Given the description of an element on the screen output the (x, y) to click on. 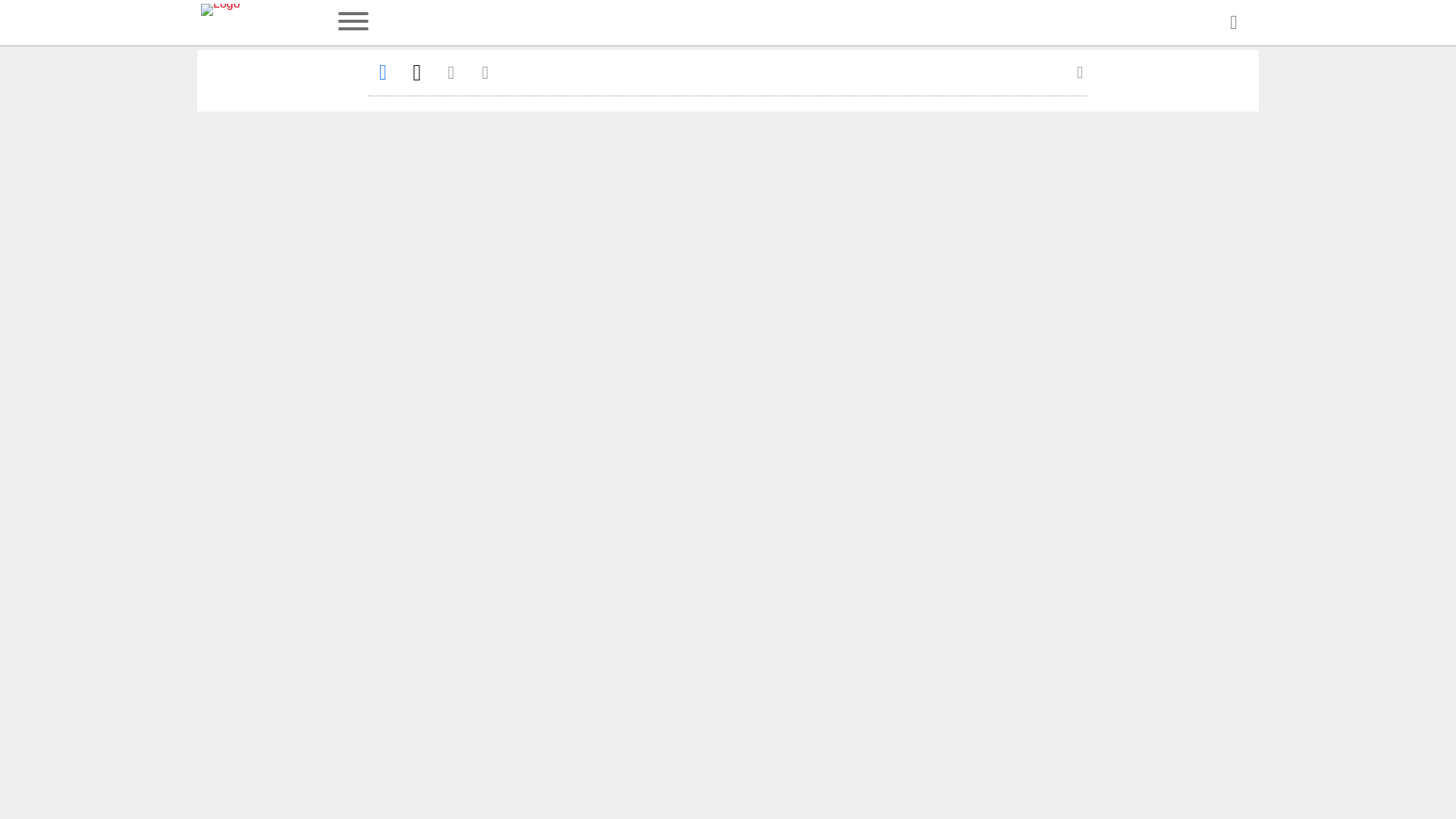
Share on Twitter (416, 72)
menu (353, 22)
Share on Facebook (382, 72)
Copy link (485, 72)
Open search (1233, 22)
Share via mail (450, 72)
